Given the description of an element on the screen output the (x, y) to click on. 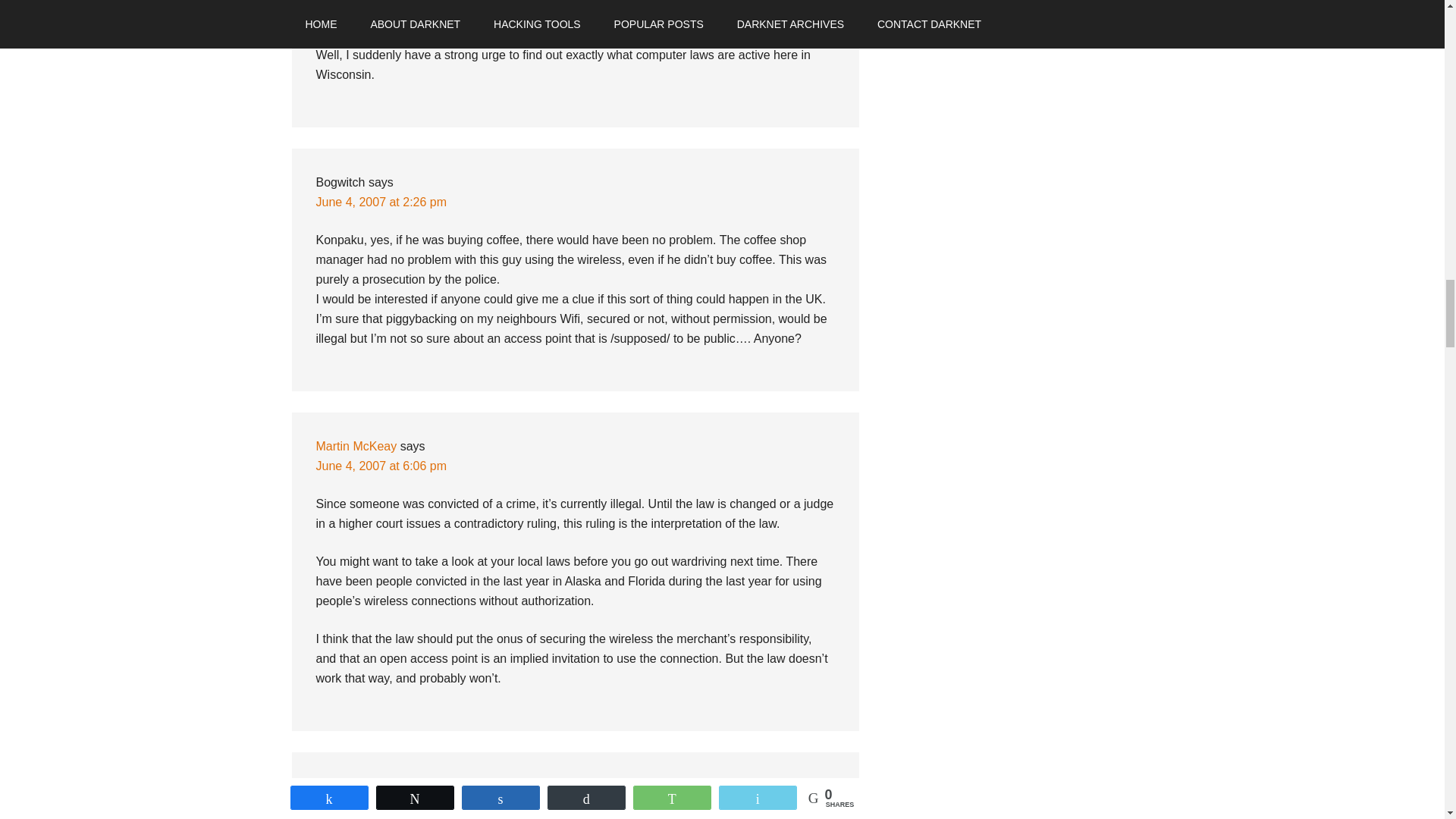
June 4, 2007 at 10:00 pm (383, 805)
Martin McKeay (355, 445)
June 4, 2007 at 2:26 pm (380, 201)
June 4, 2007 at 6:06 pm (380, 465)
June 4, 2007 at 12:48 pm (383, 16)
